Given the description of an element on the screen output the (x, y) to click on. 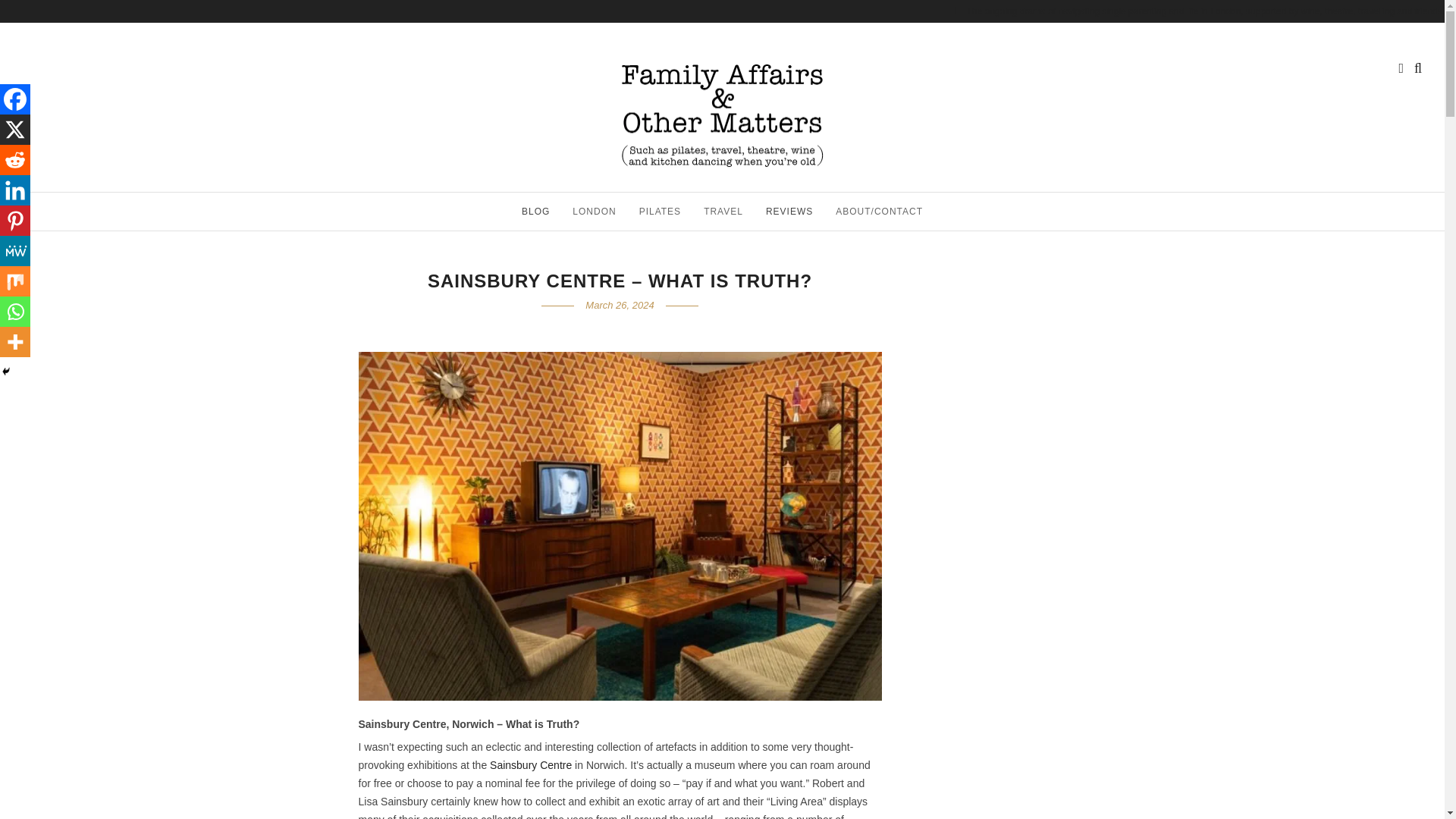
Mix (15, 281)
Pinterest (15, 220)
BLOG (535, 211)
MeWe (15, 250)
TRAVEL (723, 211)
X (15, 129)
PILATES (660, 211)
Sainsbury Centre (530, 765)
More (15, 341)
Reddit (15, 159)
Linkedin (15, 190)
Whatsapp (15, 311)
REVIEWS (789, 211)
LONDON (593, 211)
Hide (5, 371)
